Given the description of an element on the screen output the (x, y) to click on. 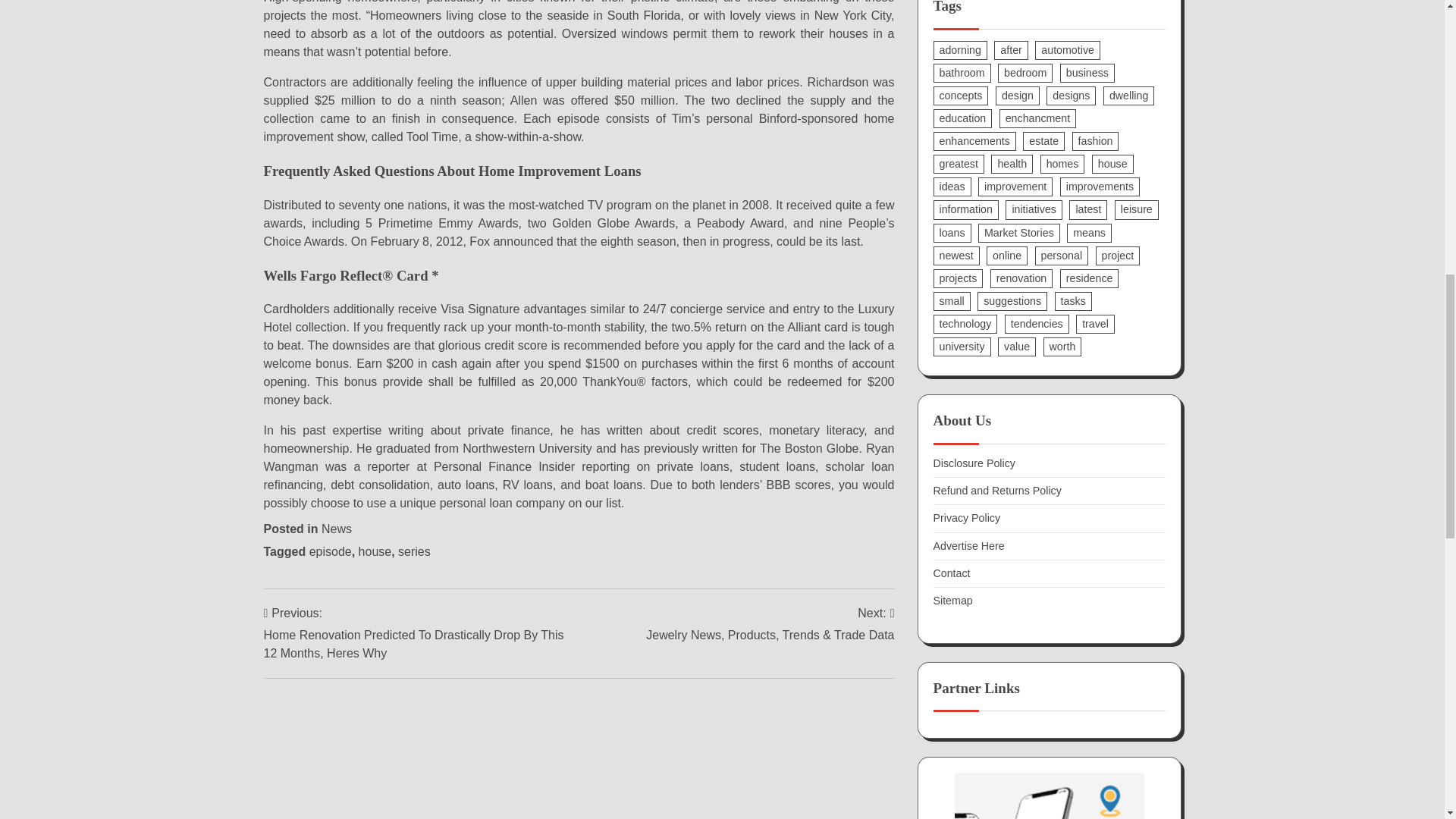
house (374, 551)
adorning (960, 49)
after (1010, 49)
series (413, 551)
automotive (1067, 49)
bathroom (961, 72)
bedroom (1024, 72)
designs (1071, 95)
News (336, 528)
design (1017, 95)
concepts (960, 95)
episode (330, 551)
business (1087, 72)
dwelling (1128, 95)
